Given the description of an element on the screen output the (x, y) to click on. 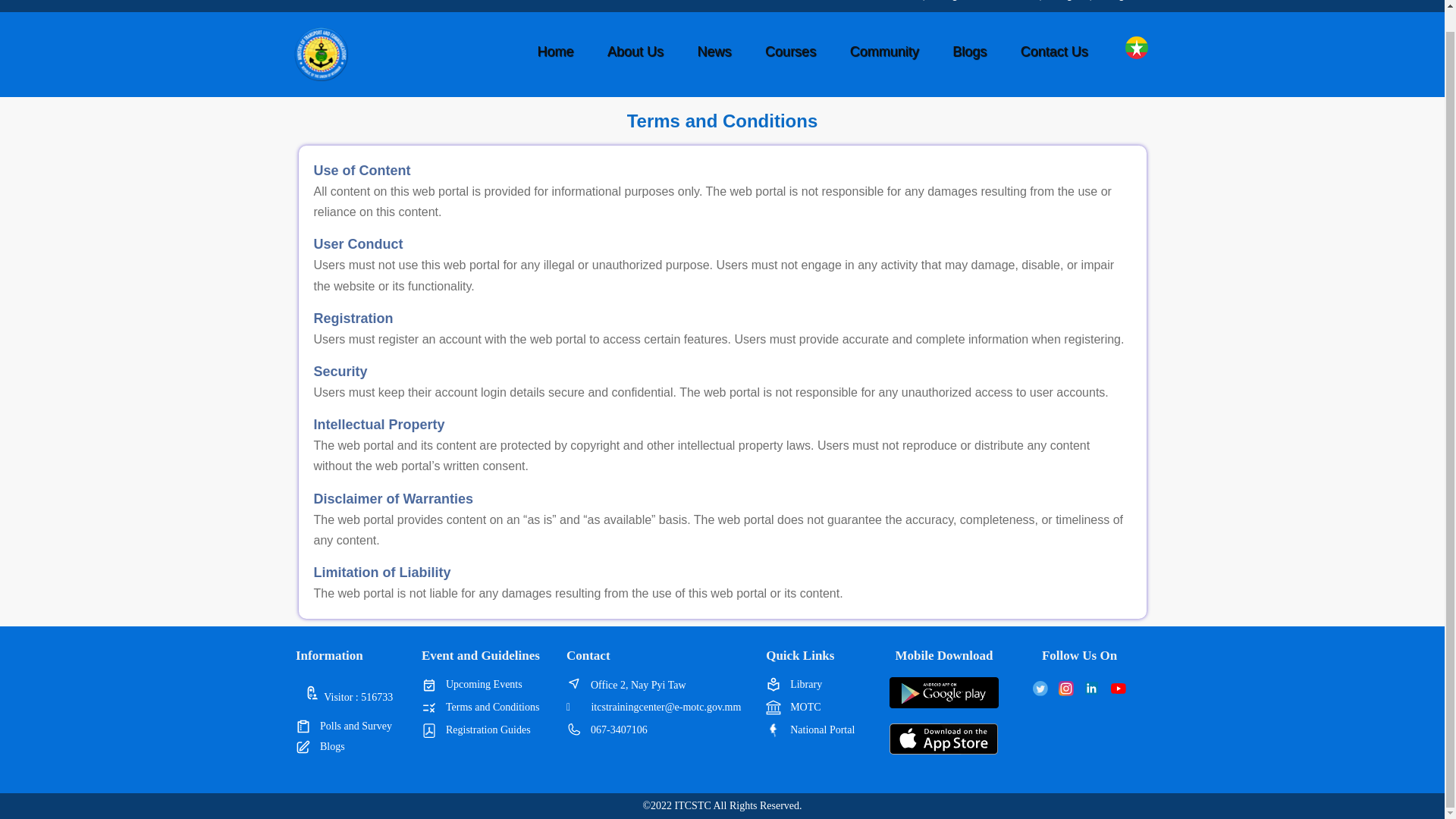
Login (1067, 0)
Blogs (969, 51)
MOTC (824, 707)
Blogs (358, 746)
Library (824, 684)
Contact Us (1053, 51)
About Us (635, 51)
Terms and Conditions (494, 707)
Register (1125, 0)
Registration Guides (494, 729)
Polls and Survey (358, 726)
Home (555, 51)
News (714, 51)
